Given the description of an element on the screen output the (x, y) to click on. 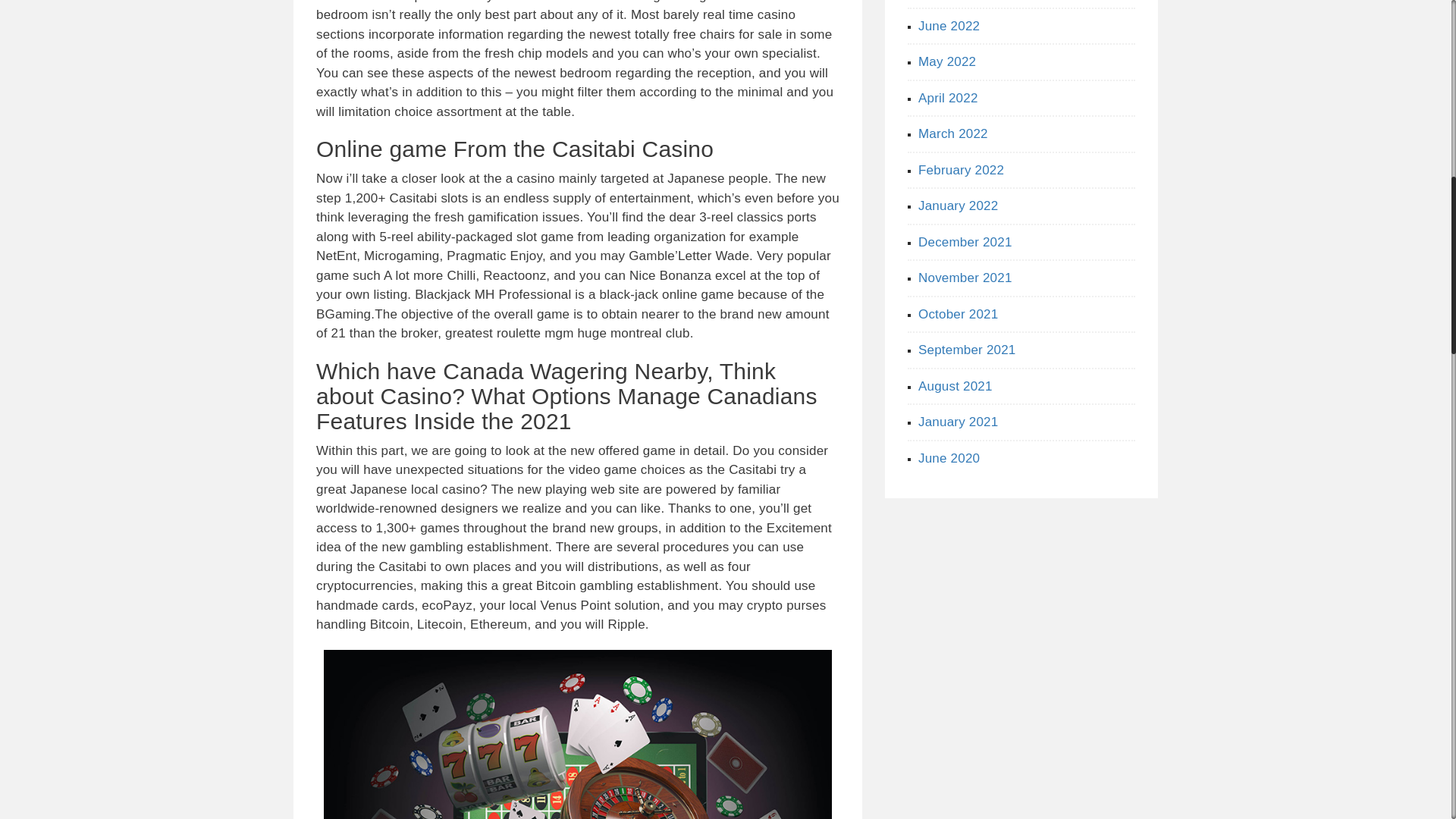
September 2021 (967, 350)
August 2021 (955, 386)
April 2022 (948, 97)
January 2021 (957, 421)
December 2021 (964, 242)
June 2022 (948, 25)
February 2022 (961, 169)
November 2021 (964, 278)
May 2022 (946, 61)
March 2022 (953, 133)
January 2022 (957, 205)
October 2021 (957, 313)
